Given the description of an element on the screen output the (x, y) to click on. 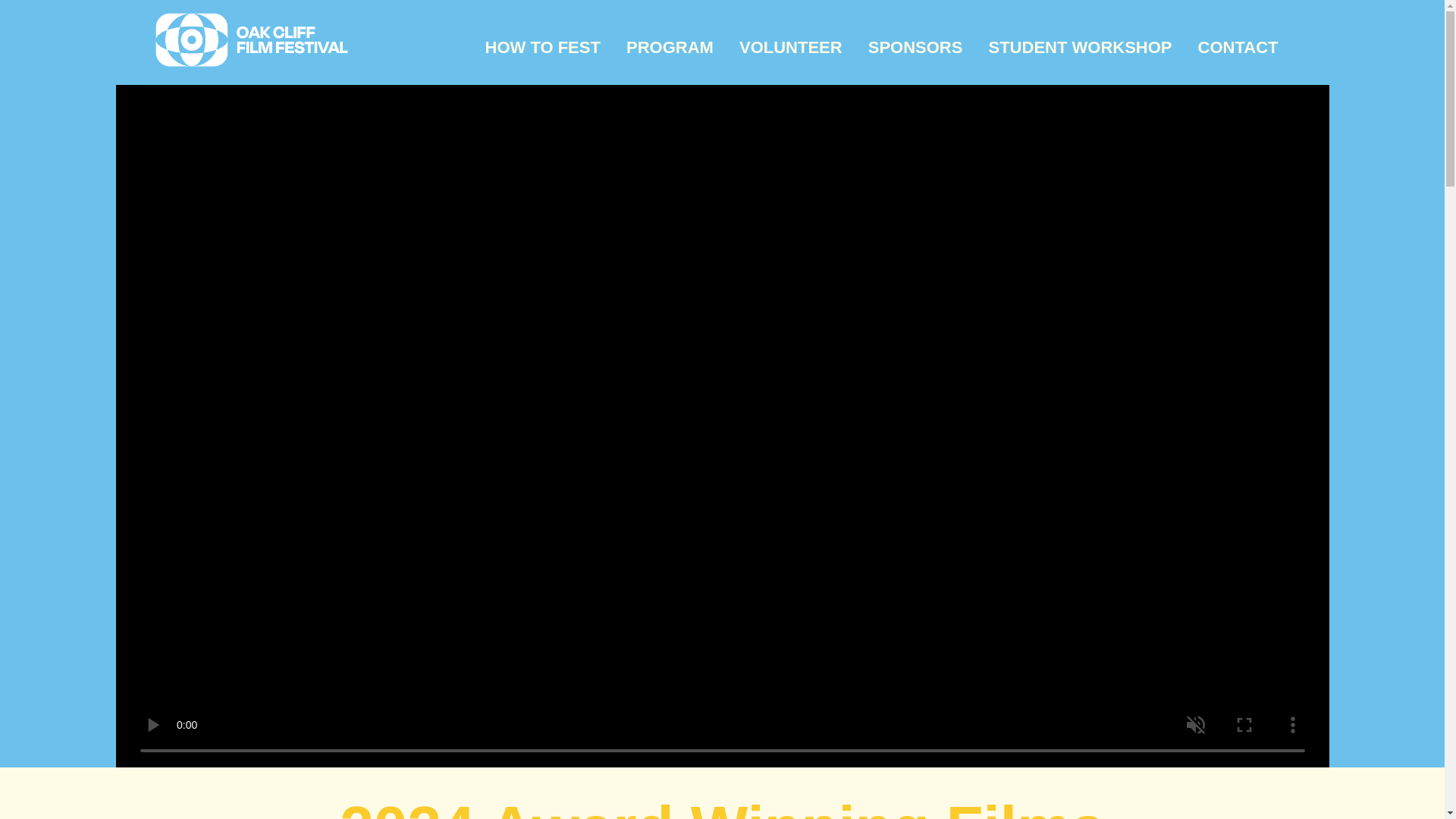
CONTACT (1238, 47)
SPONSORS (915, 47)
STUDENT WORKSHOP (1080, 47)
PROGRAM (669, 47)
VOLUNTEER (791, 47)
HOW TO FEST (541, 47)
